Given the description of an element on the screen output the (x, y) to click on. 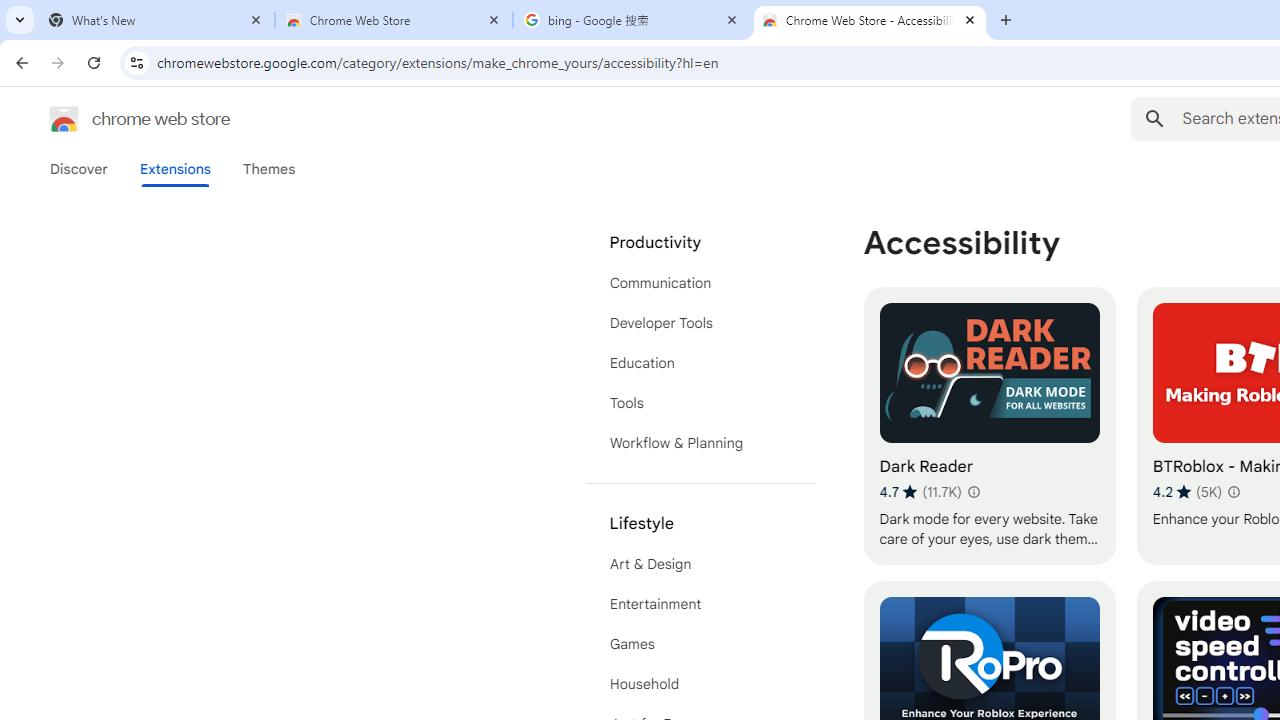
Forward (57, 62)
Games (700, 643)
Close (970, 19)
What's New (156, 20)
Chrome Web Store logo (63, 118)
Communication (700, 282)
Learn more about results and reviews "Dark Reader" (972, 491)
Education (700, 362)
Back (19, 62)
Chrome Web Store - Accessibility (870, 20)
Discover (79, 169)
Tools (700, 403)
